Given the description of an element on the screen output the (x, y) to click on. 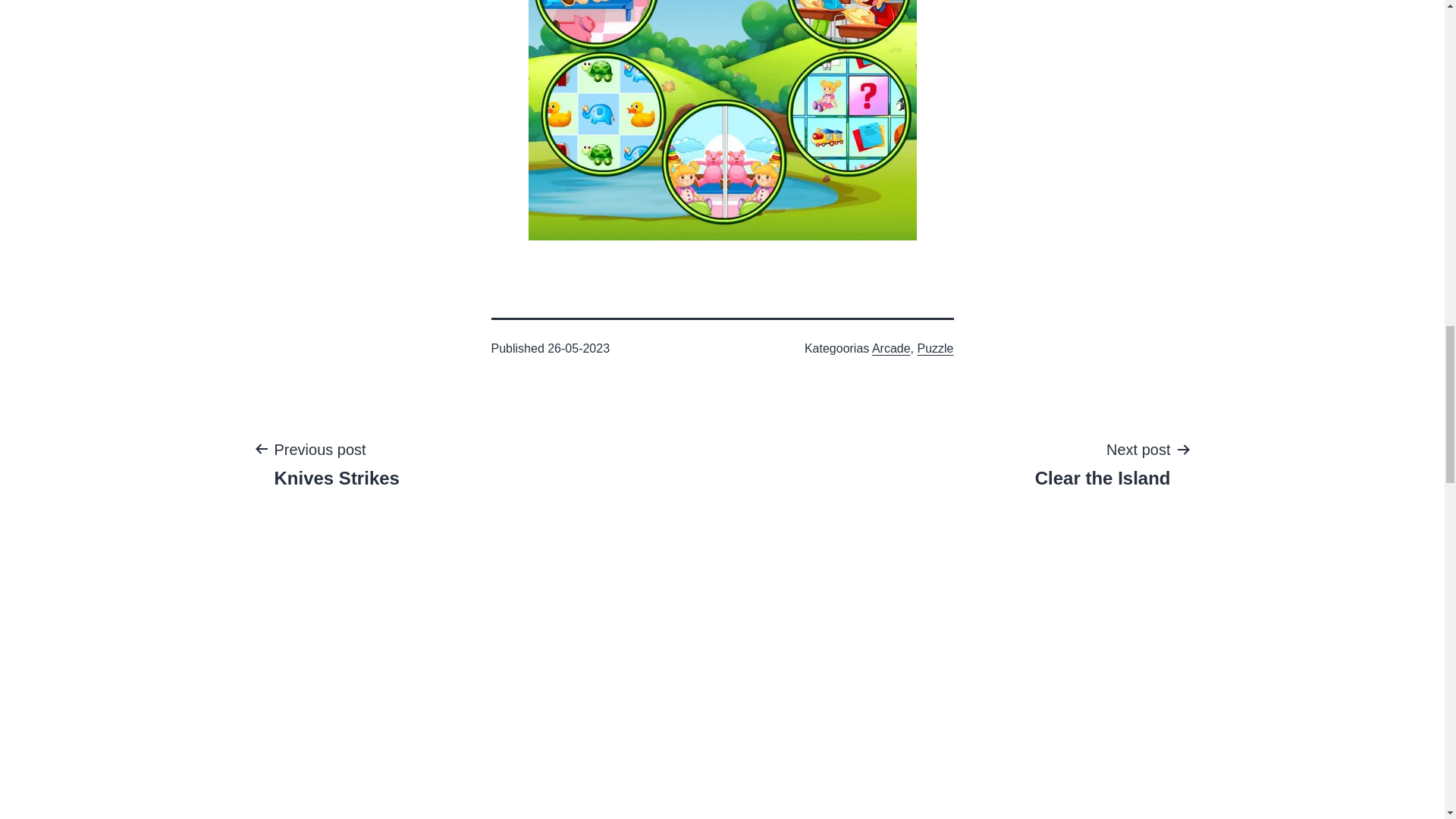
Arcade (891, 348)
Puzzle (935, 348)
